Given the description of an element on the screen output the (x, y) to click on. 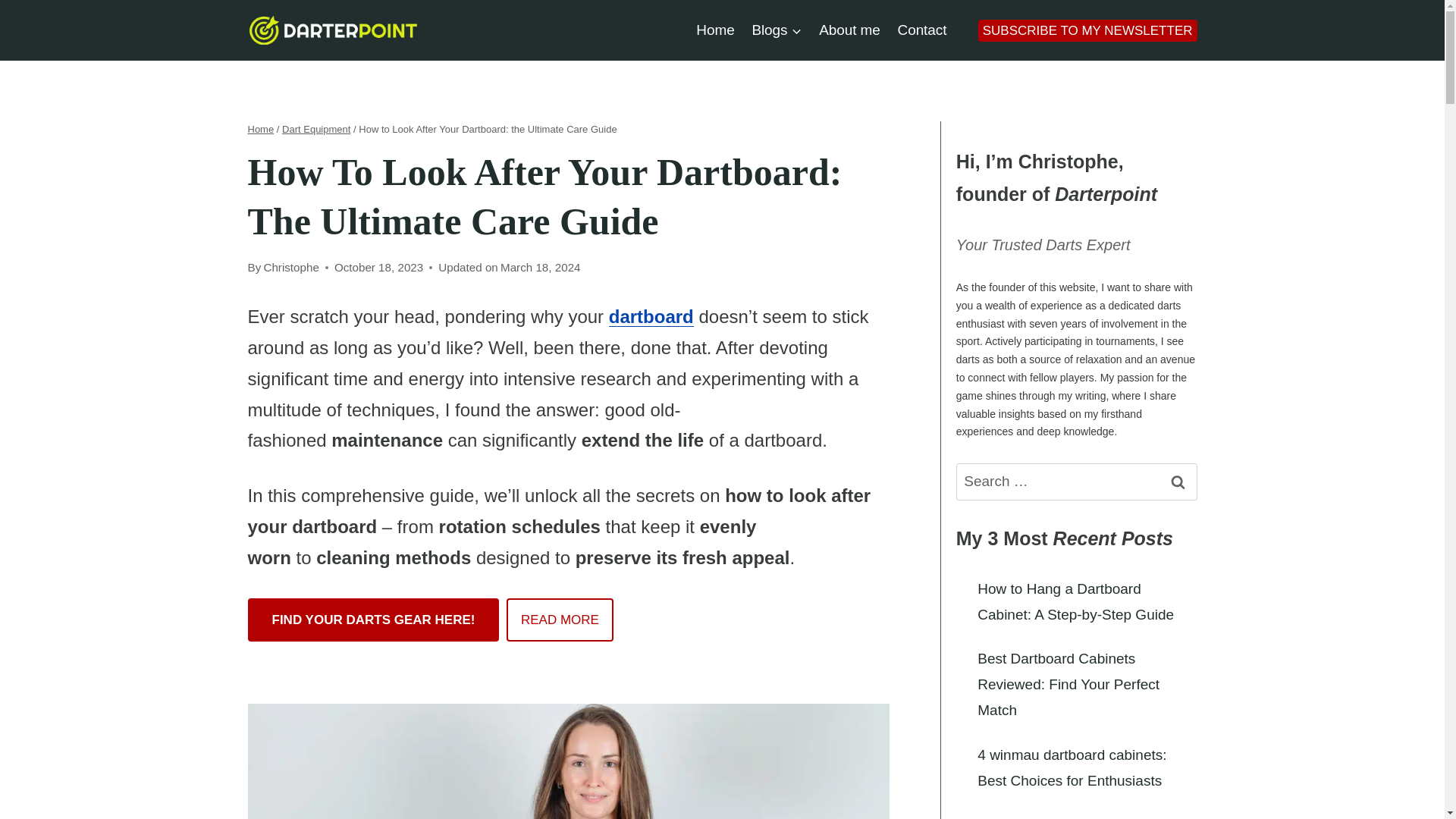
Search (1177, 481)
Home (260, 129)
Dart Equipment (316, 129)
Contact (921, 29)
Search (1177, 481)
How to Hang a Dartboard Cabinet: A Step-by-Step Guide (1074, 601)
SUBSCRIBE TO MY NEWSLETTER (1087, 30)
FIND YOUR DARTS GEAR HERE! (373, 618)
Home (714, 29)
Search (1177, 481)
